Given the description of an element on the screen output the (x, y) to click on. 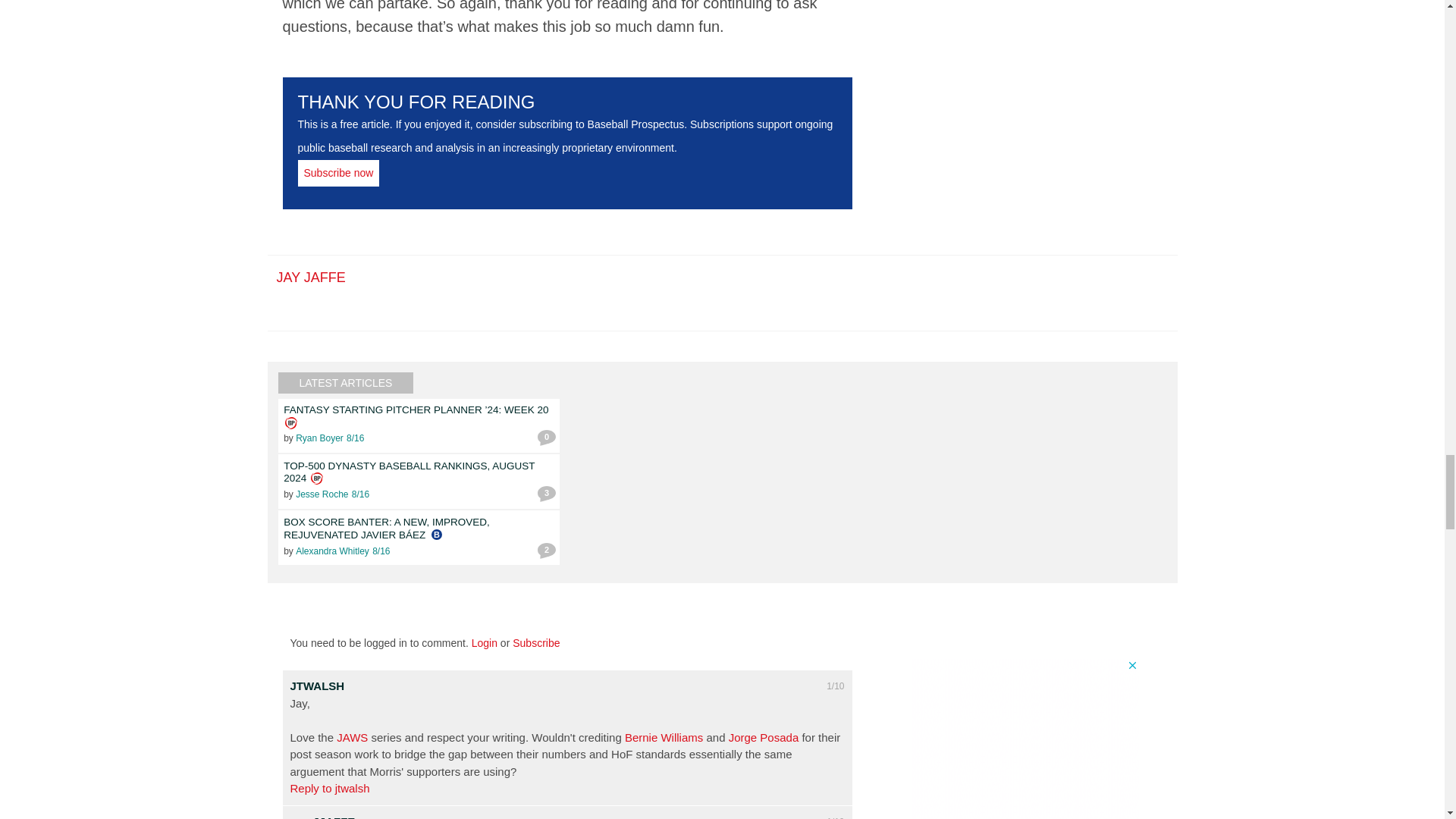
available to Premium Subscribers (317, 478)
Posts by Jesse Roche (321, 494)
available to Premium Subscribers (291, 422)
Posts by Ryan Boyer (319, 438)
